Given the description of an element on the screen output the (x, y) to click on. 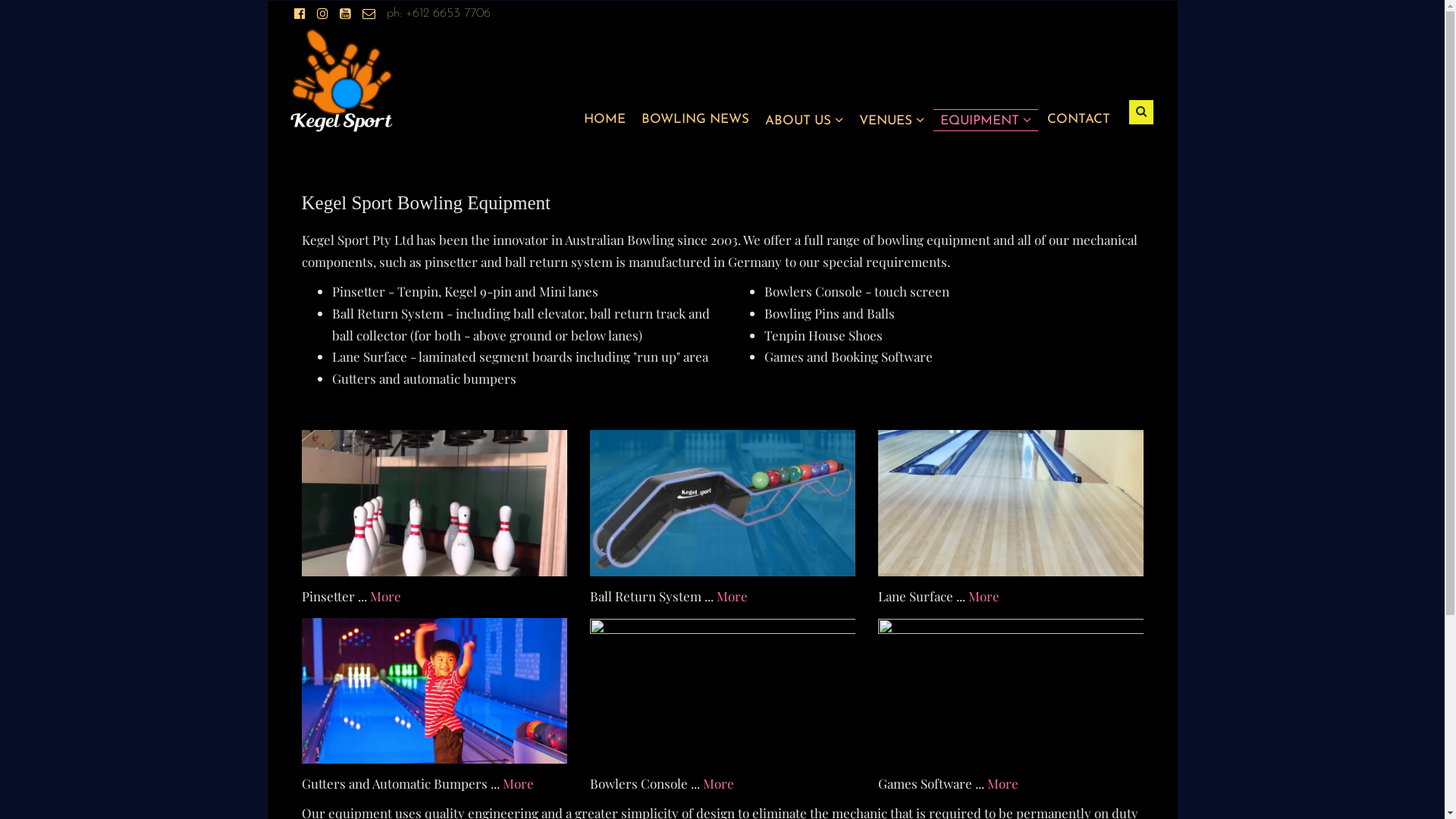
More Element type: text (730, 595)
Automatic Bumpers Element type: hover (434, 691)
Bowling Lane Surface Element type: hover (1010, 502)
HOME Element type: text (604, 118)
CONTACT Element type: text (1077, 118)
EQUIPMENT Element type: text (985, 119)
ABOUT US Element type: text (803, 119)
bowlwrs console Element type: hover (722, 691)
More Element type: text (517, 783)
VENUES Element type: text (890, 119)
More Element type: text (982, 595)
Kegel Sport Element type: hover (340, 79)
String Setters Element type: hover (434, 502)
More Element type: text (717, 783)
BOWLING NEWS Element type: text (695, 118)
More Element type: text (1002, 783)
Ten Pin Ball Return System Element type: hover (722, 502)
More Element type: text (385, 595)
